Given the description of an element on the screen output the (x, y) to click on. 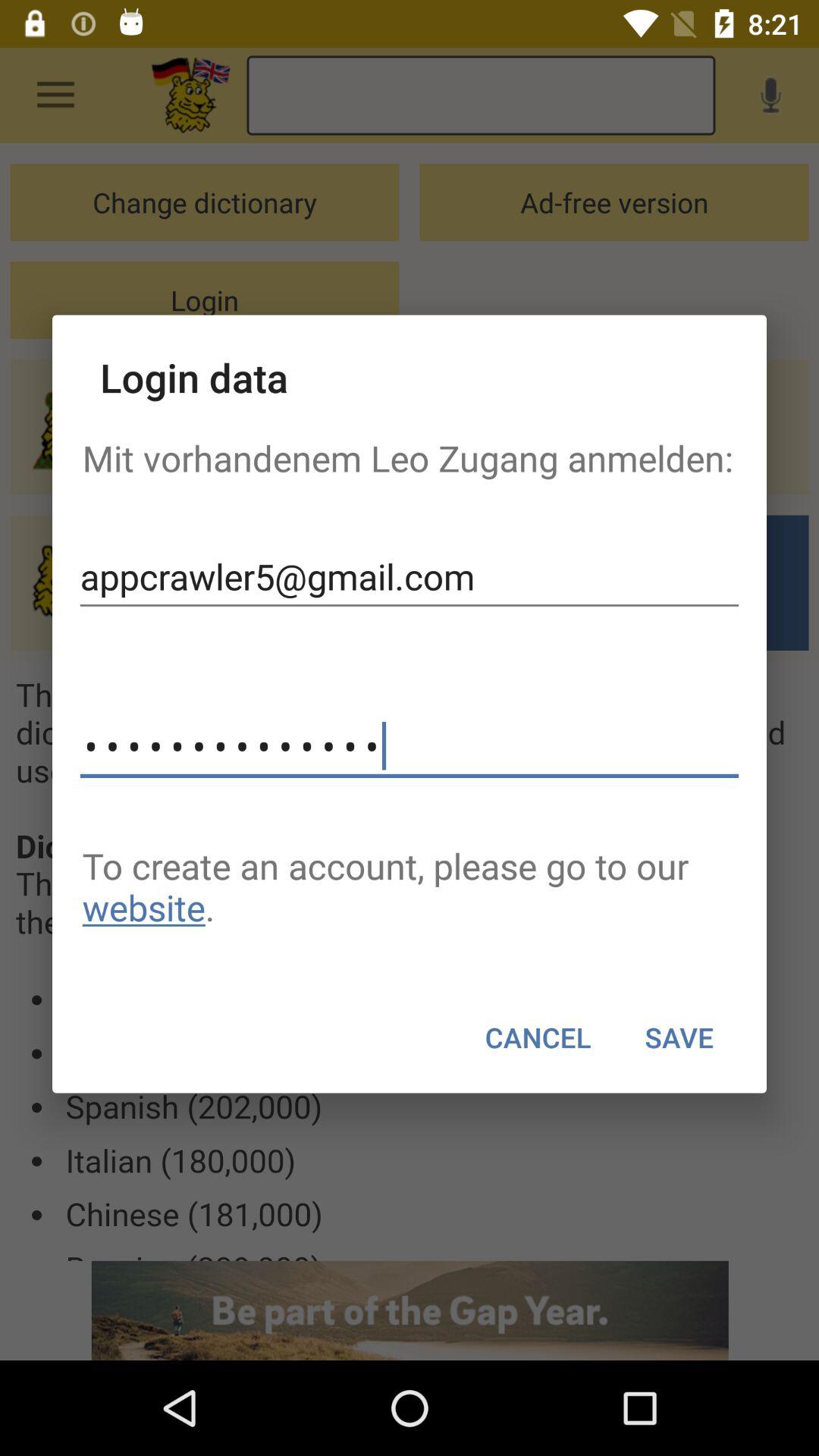
open the item below the mit vorhandenem leo (409, 577)
